Given the description of an element on the screen output the (x, y) to click on. 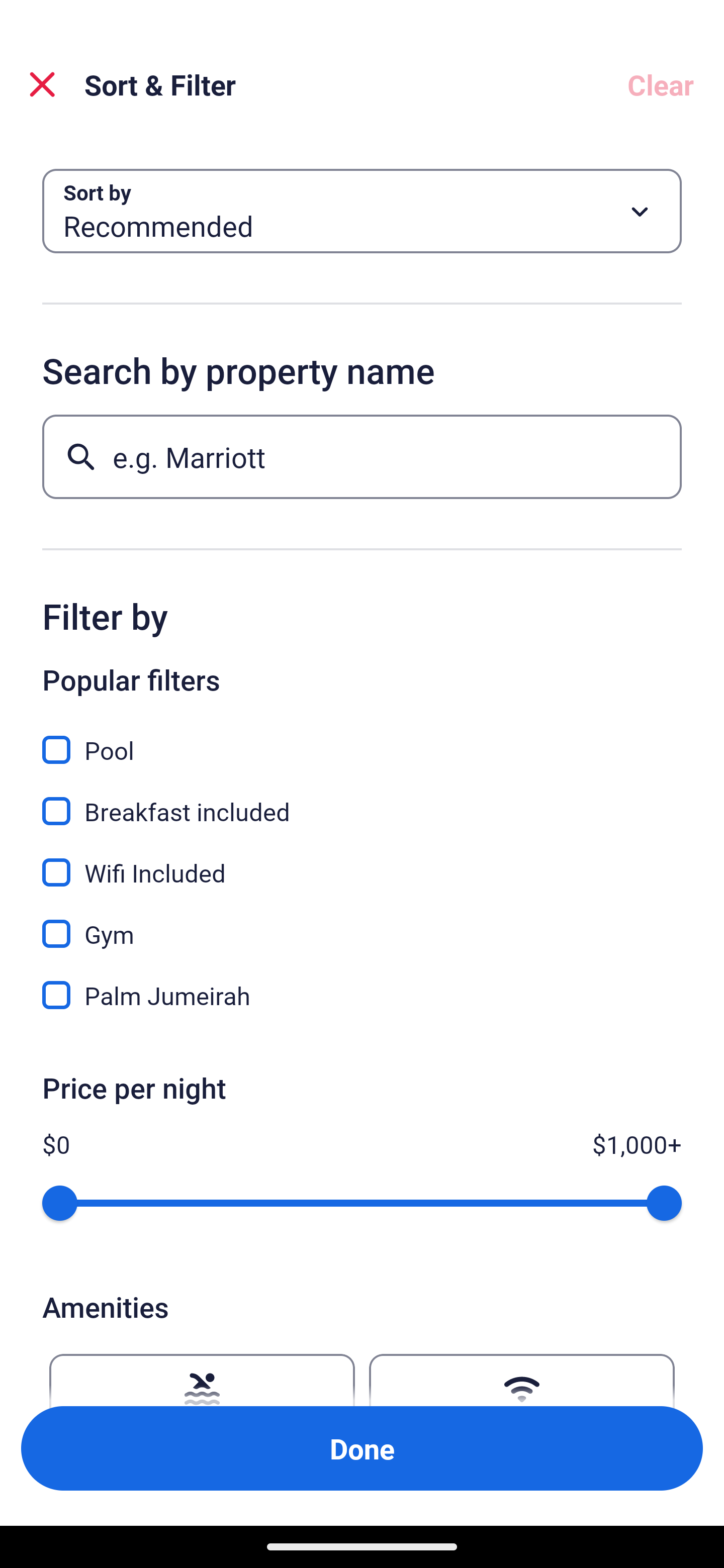
Close Sort and Filter (42, 84)
Clear (660, 84)
Sort by Button Recommended (361, 211)
e.g. Marriott Button (361, 455)
Pool, Pool (361, 738)
Breakfast included, Breakfast included (361, 800)
Wifi Included, Wifi Included (361, 861)
Gym, Gym (361, 922)
Palm Jumeirah, Palm Jumeirah (361, 995)
Apply and close Sort and Filter Done (361, 1448)
